Given the description of an element on the screen output the (x, y) to click on. 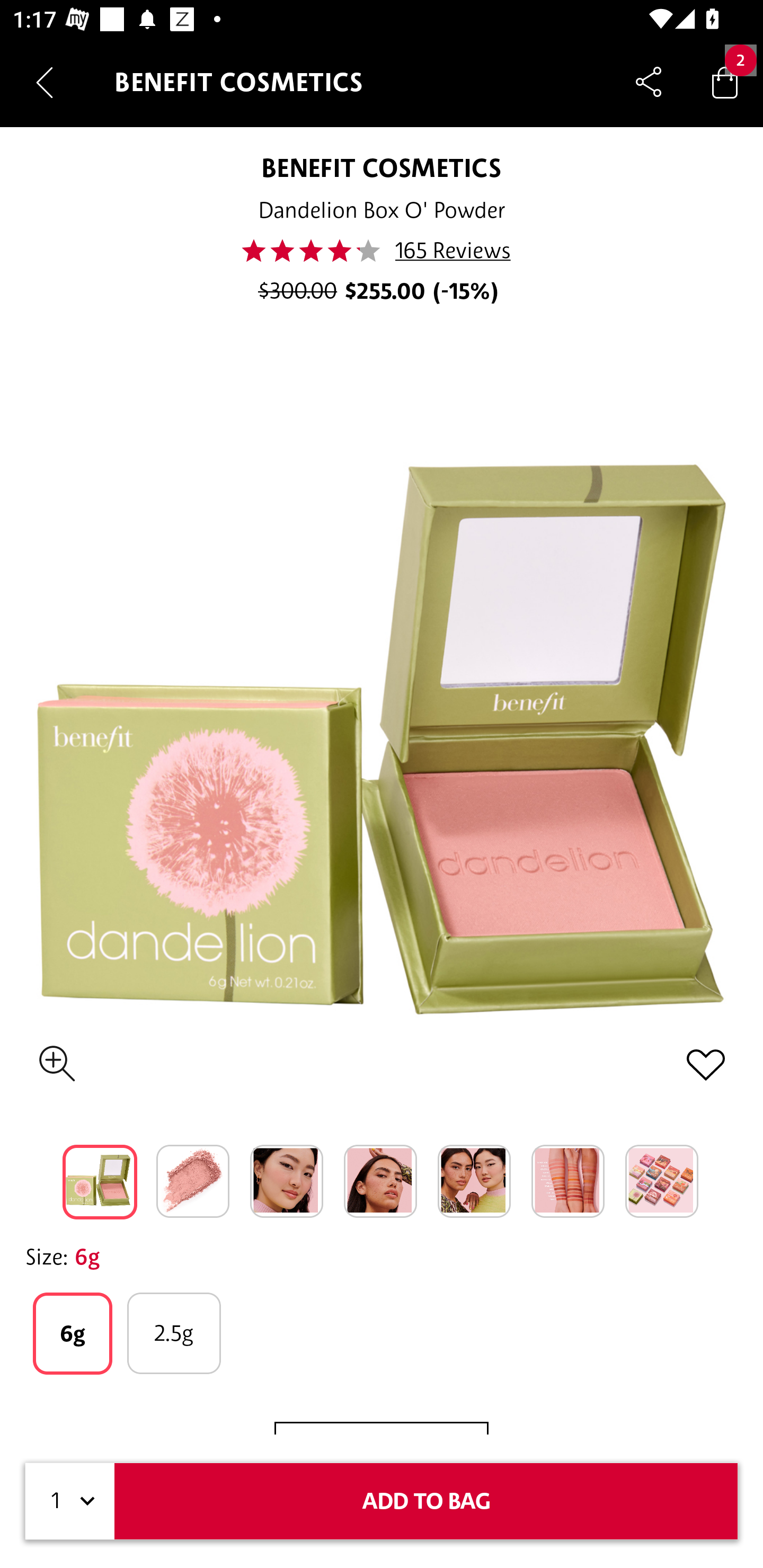
Navigate up (44, 82)
Share (648, 81)
Bag (724, 81)
BENEFIT COSMETICS (381, 167)
42.0 165 Reviews (381, 250)
6g (72, 1333)
2.5g (174, 1332)
1 (69, 1500)
